Given the description of an element on the screen output the (x, y) to click on. 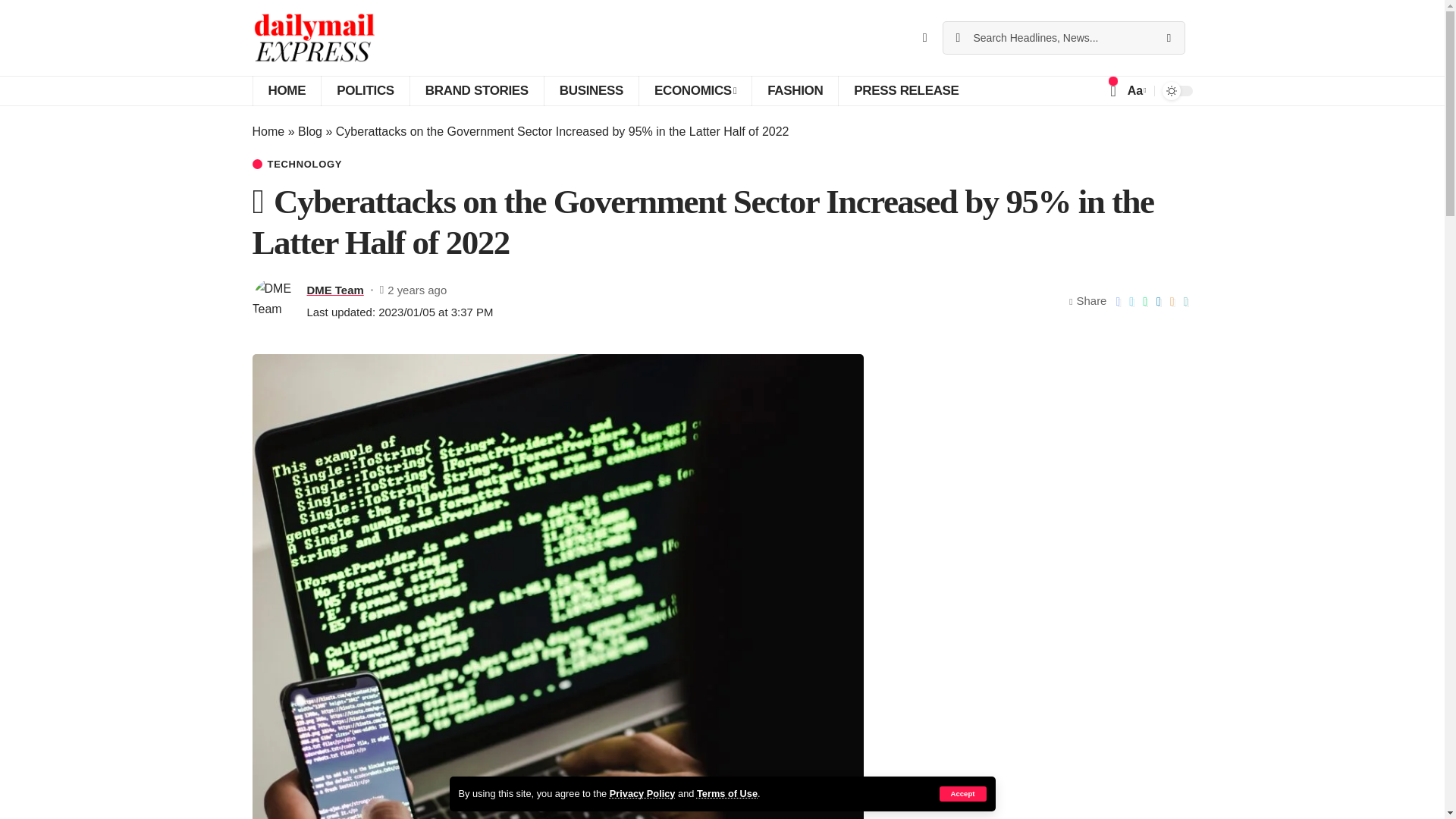
BUSINESS (591, 91)
HOME (285, 91)
Terms of Use (727, 793)
BRAND STORIES (476, 91)
FASHION (794, 91)
PRESS RELEASE (906, 91)
ECONOMICS (695, 91)
Aa (1135, 90)
Accept (962, 793)
Search (1168, 37)
